Given the description of an element on the screen output the (x, y) to click on. 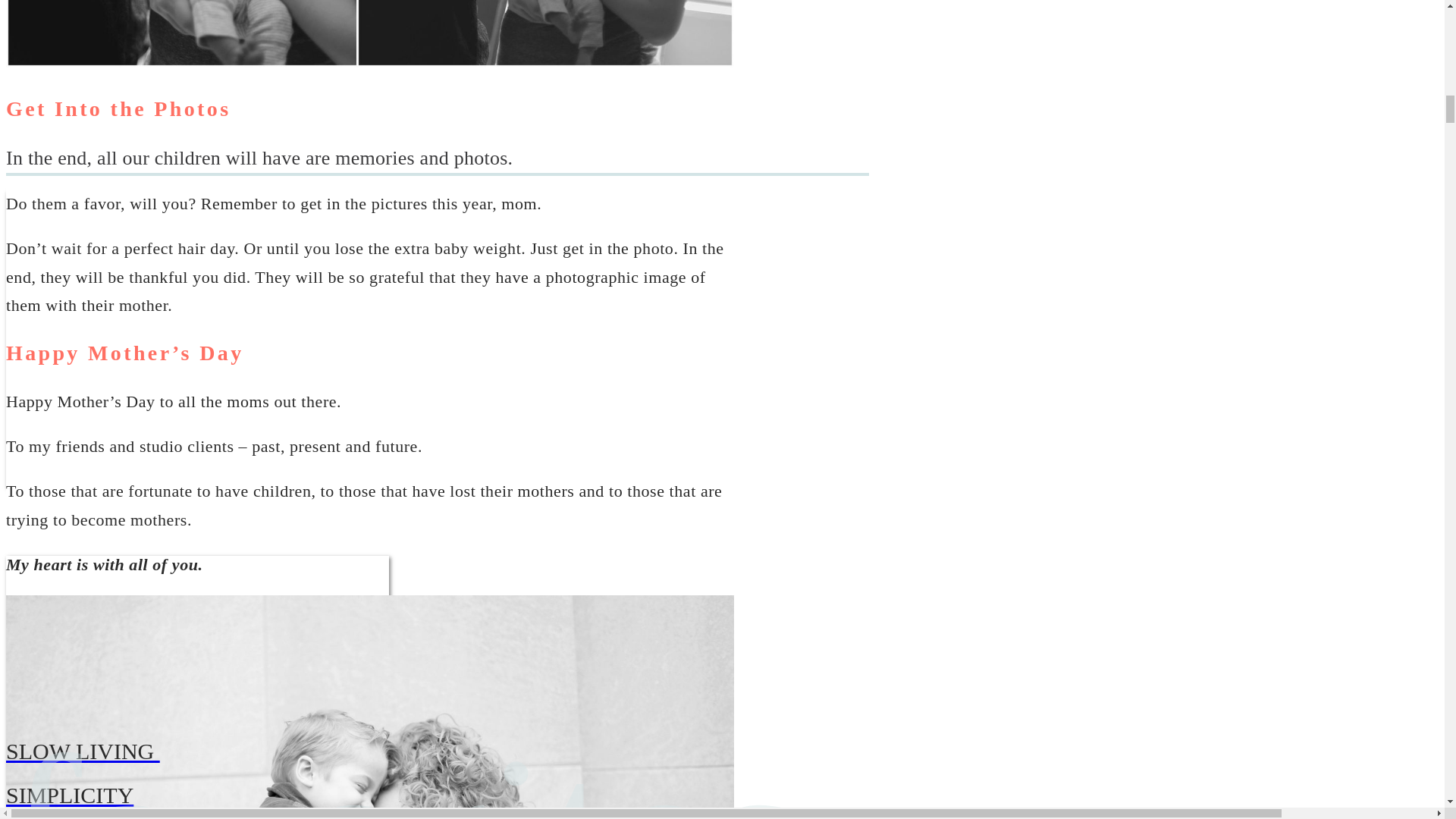
SLOW LIVING  (460, 750)
SIMPLICITY (460, 794)
